Given the description of an element on the screen output the (x, y) to click on. 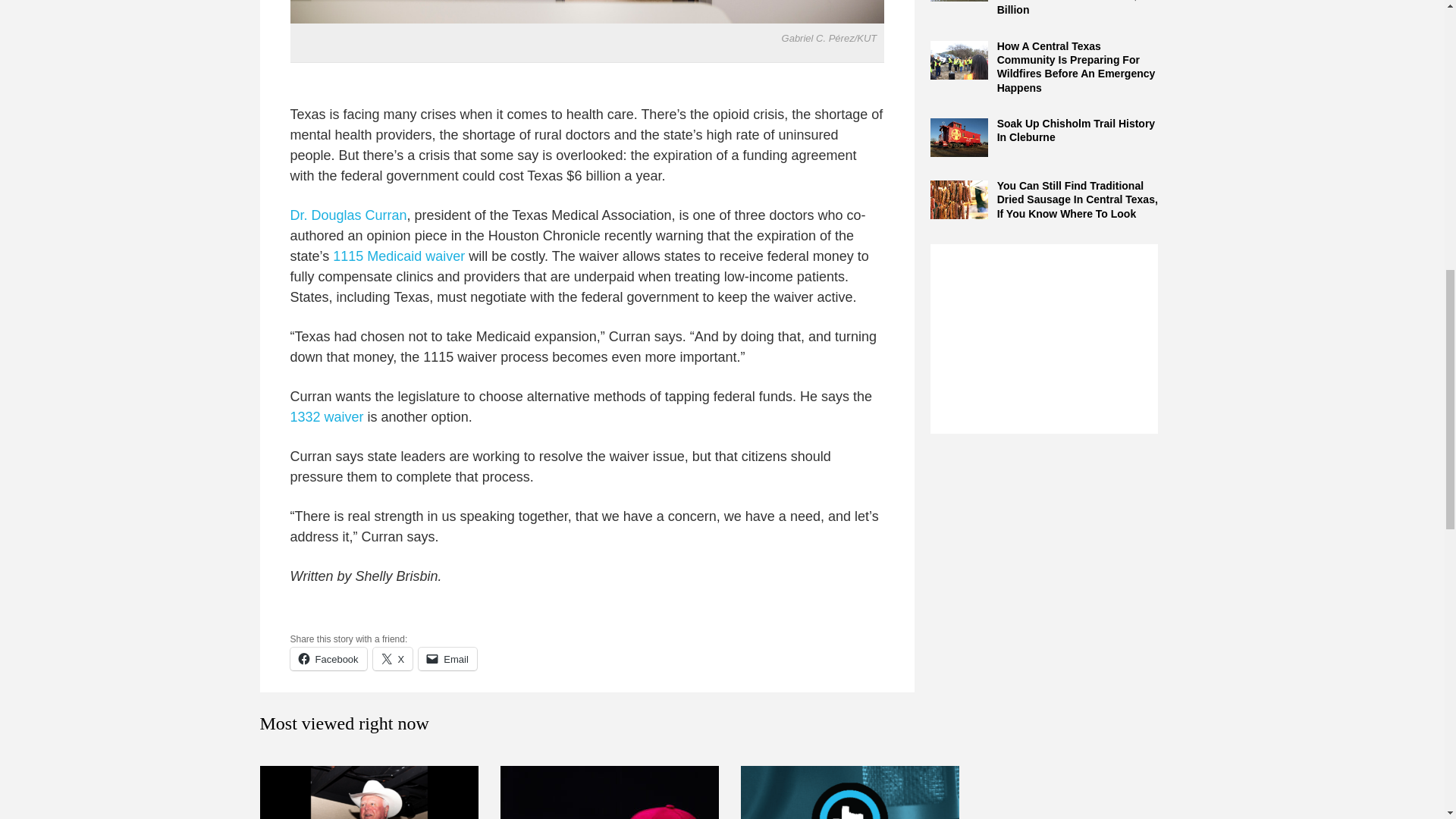
3rd party ad content (1043, 339)
Click to share on X (392, 658)
Click to share on Facebook (327, 658)
Click to email a link to a friend (448, 658)
